Given the description of an element on the screen output the (x, y) to click on. 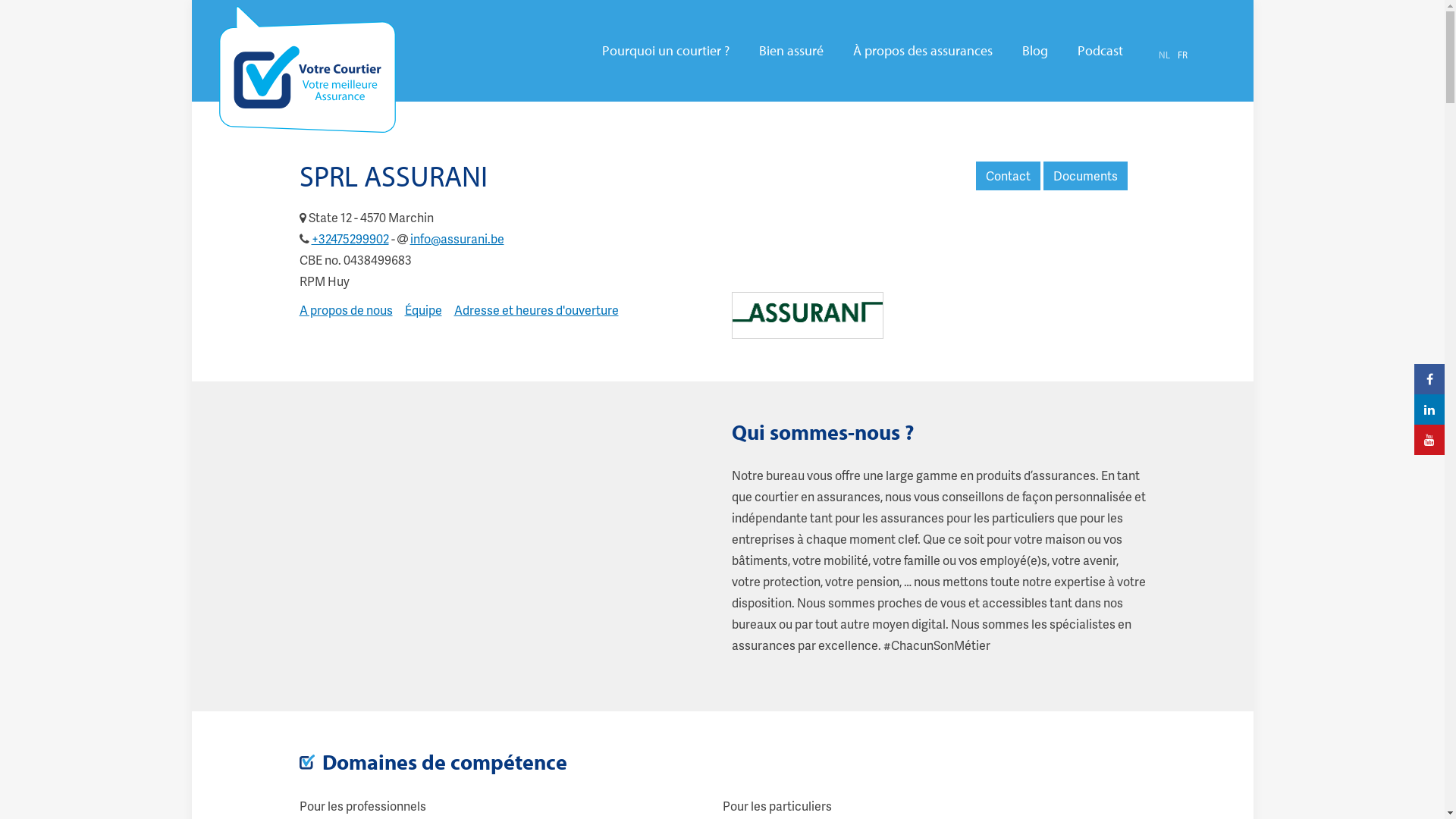
Blog Element type: text (1034, 50)
info@assurani.be Element type: text (456, 238)
Contact Element type: text (1007, 175)
Pourquoi un courtier ? Element type: text (665, 50)
Documents Element type: text (1085, 175)
A propos de nous Element type: text (345, 309)
+32475299902 Element type: text (349, 238)
FR Element type: text (1181, 54)
Adresse et heures d'ouverture Element type: text (535, 309)
NL Element type: text (1164, 54)
Podcast Element type: text (1099, 50)
